Given the description of an element on the screen output the (x, y) to click on. 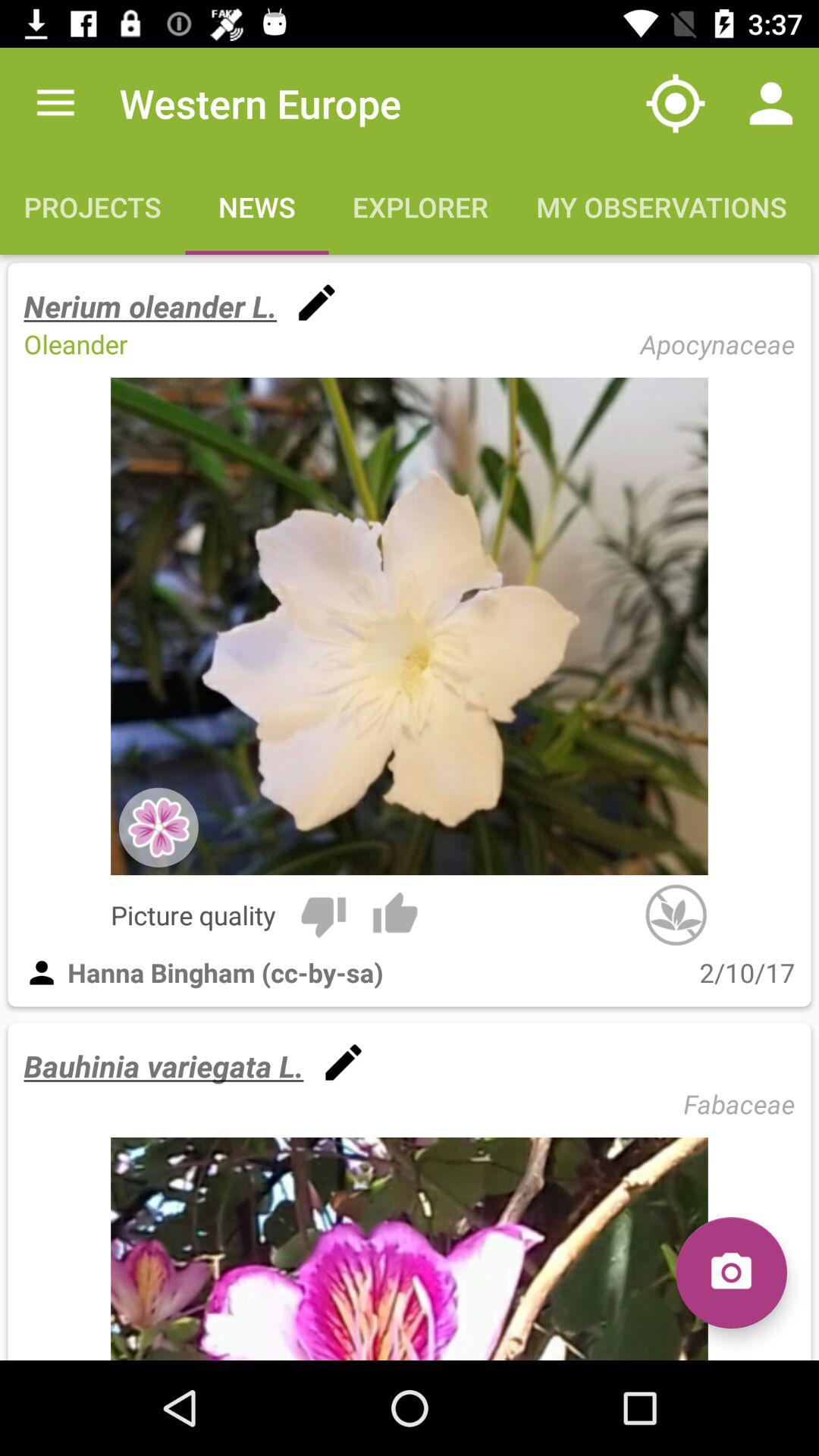
launch the item to the right of picture quality (323, 914)
